Given the description of an element on the screen output the (x, y) to click on. 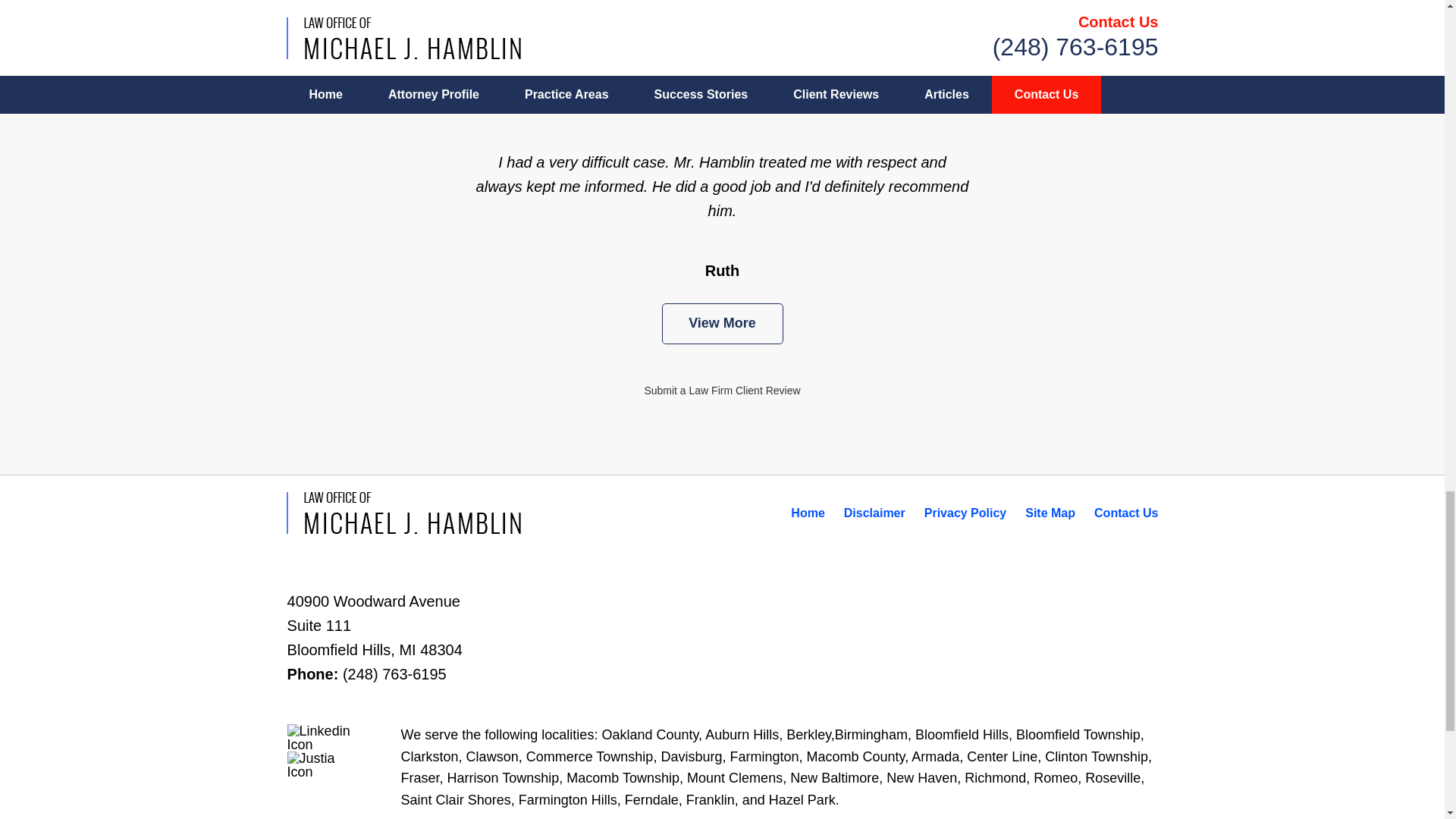
Privacy Policy (965, 512)
Site Map (1050, 512)
Submit a Law Firm Client Review (721, 389)
Justia (323, 764)
Home (807, 512)
View More (722, 323)
Client Reviews (722, 5)
Disclaimer (874, 512)
Contact Us (1125, 512)
Linkedin (323, 737)
